Given the description of an element on the screen output the (x, y) to click on. 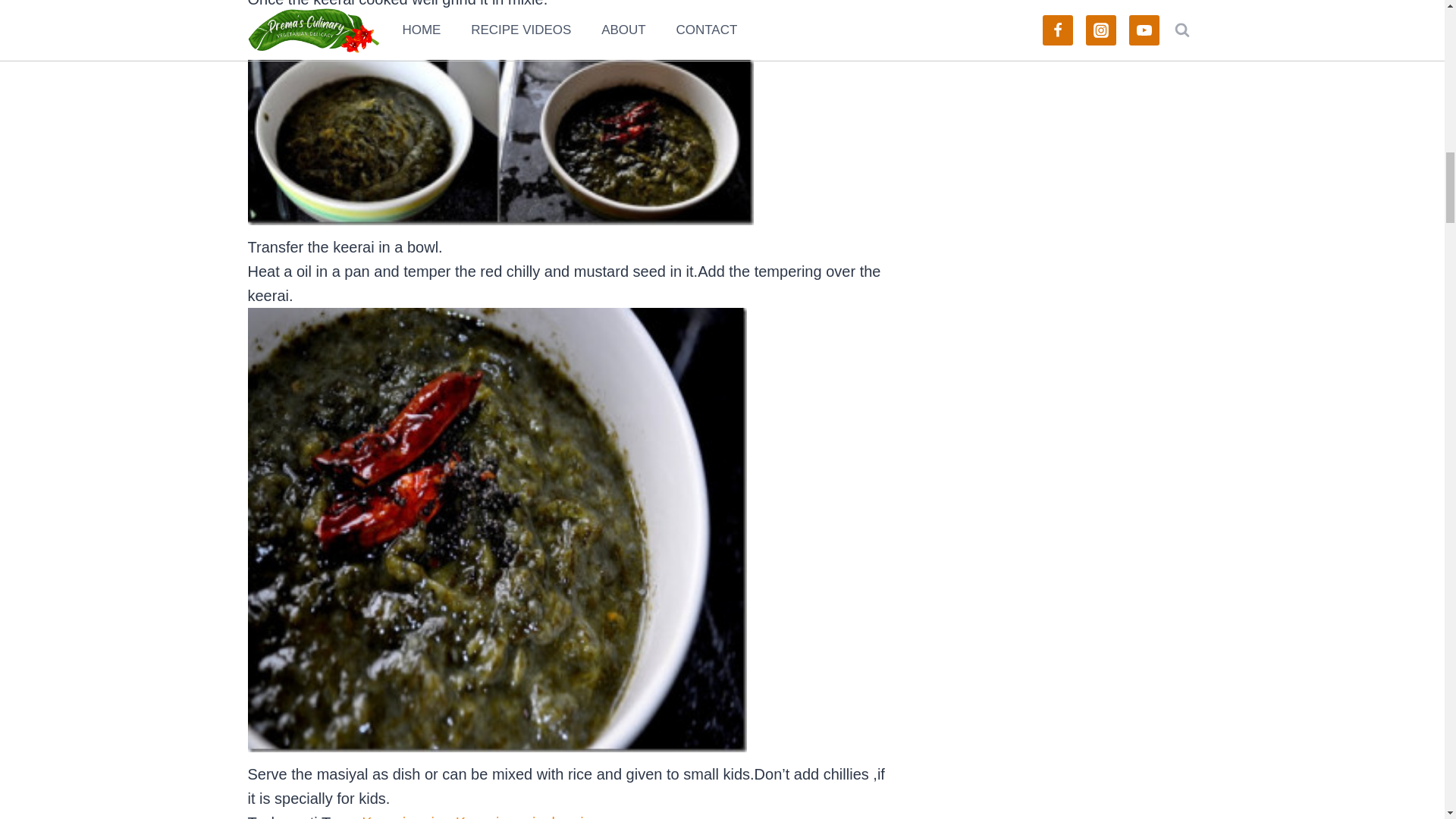
Keerai masiyal recipe (527, 816)
kuzhambu2 (499, 142)
Keerai recipe (406, 816)
